Given the description of an element on the screen output the (x, y) to click on. 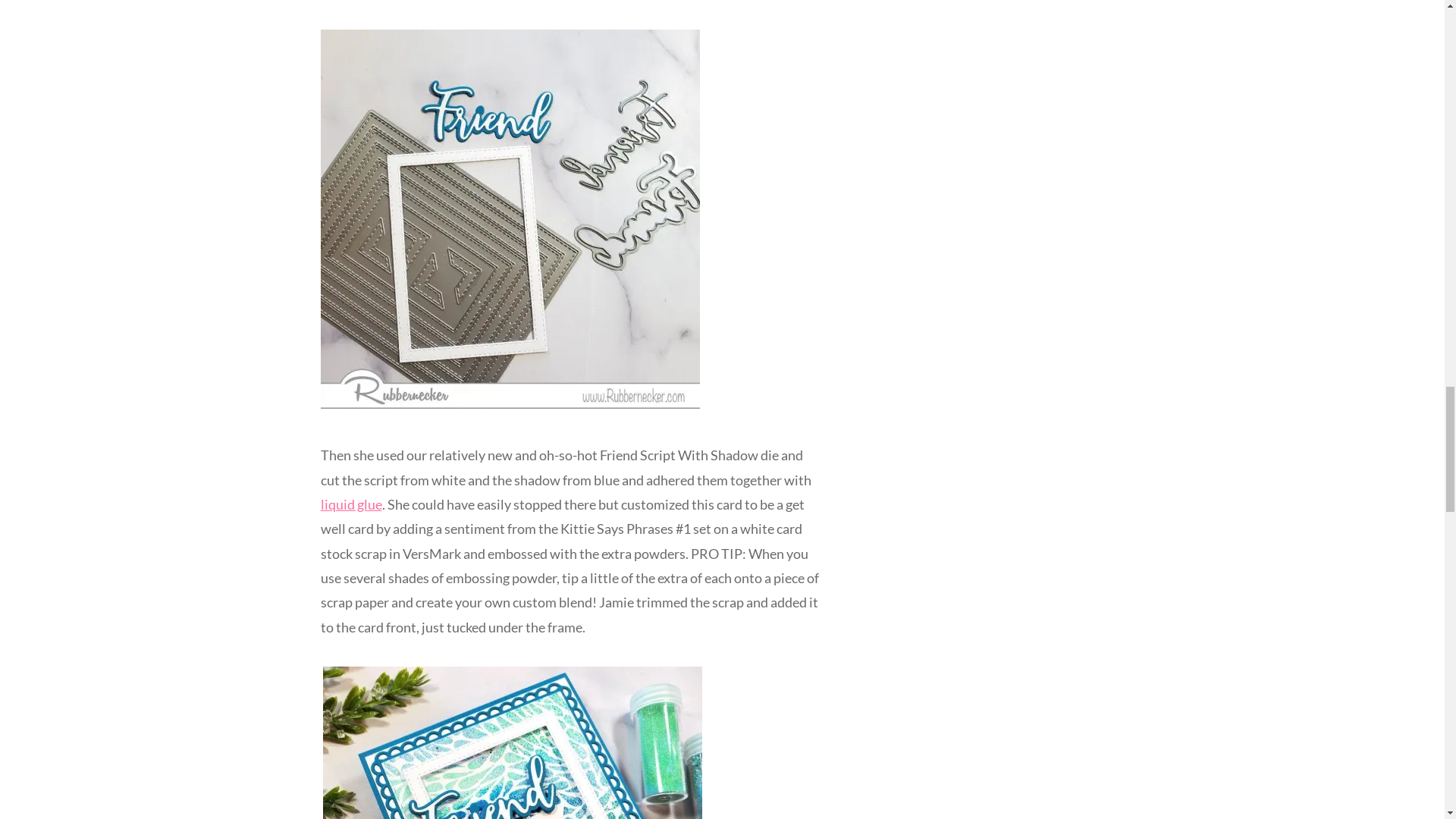
liquid glue (350, 504)
